Given the description of an element on the screen output the (x, y) to click on. 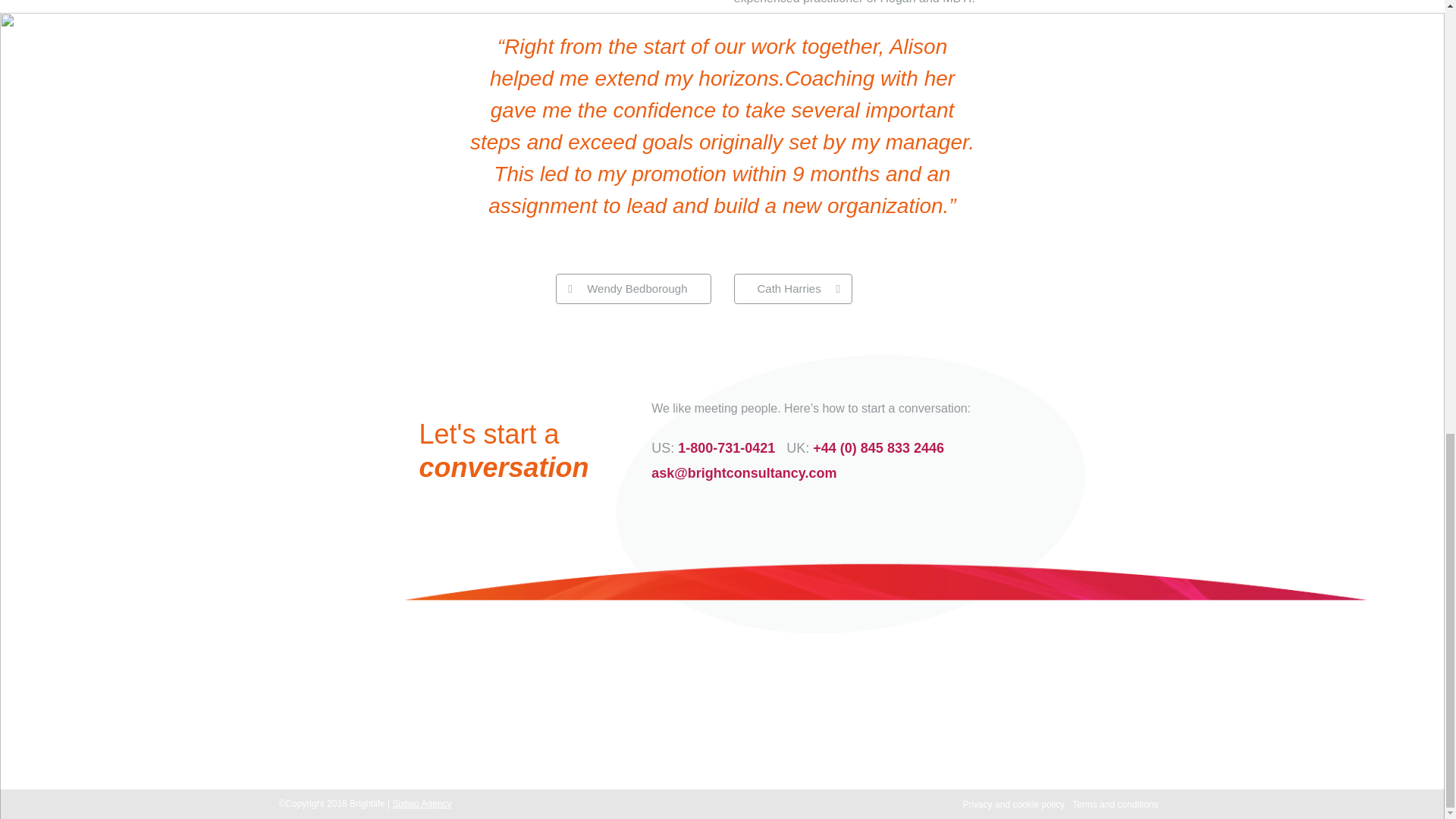
Terms and conditions (1114, 804)
1-800-731-0421 (726, 447)
Cath Harries (792, 288)
Wendy Bedborough (633, 288)
Privacy and cookie policy (1013, 804)
Sixtwo Agency (422, 803)
1-800-731-0421 (553, 729)
